Given the description of an element on the screen output the (x, y) to click on. 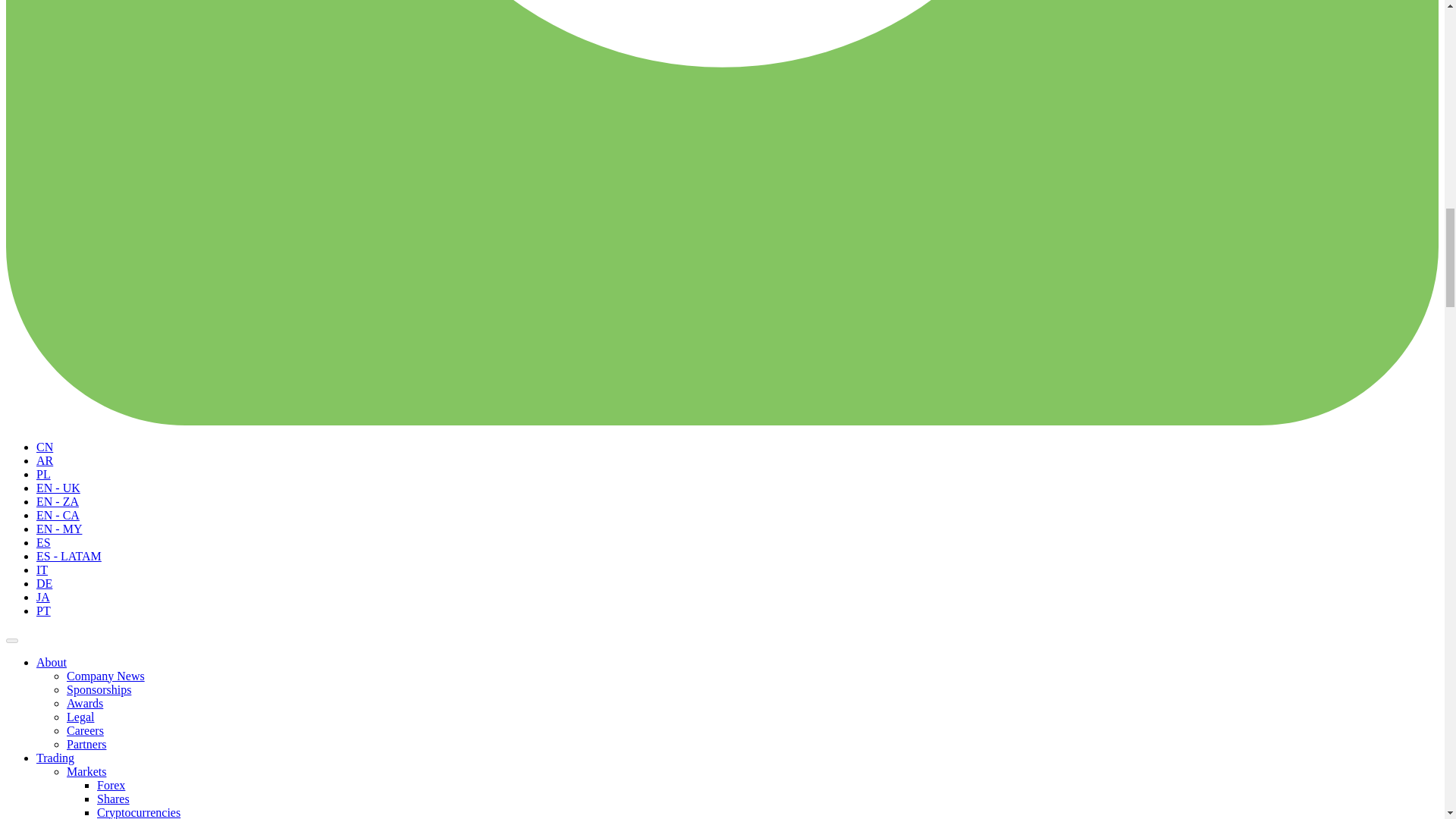
JA (42, 595)
EN - CA (58, 513)
CN (44, 445)
EN - UK (58, 486)
AR (44, 459)
ES - LATAM (68, 554)
PT (43, 609)
ES (43, 541)
About (51, 661)
EN - ZA (57, 500)
Awards (84, 702)
Company News (105, 675)
Sponsorships (98, 688)
PL (43, 472)
EN - MY (58, 527)
